Given the description of an element on the screen output the (x, y) to click on. 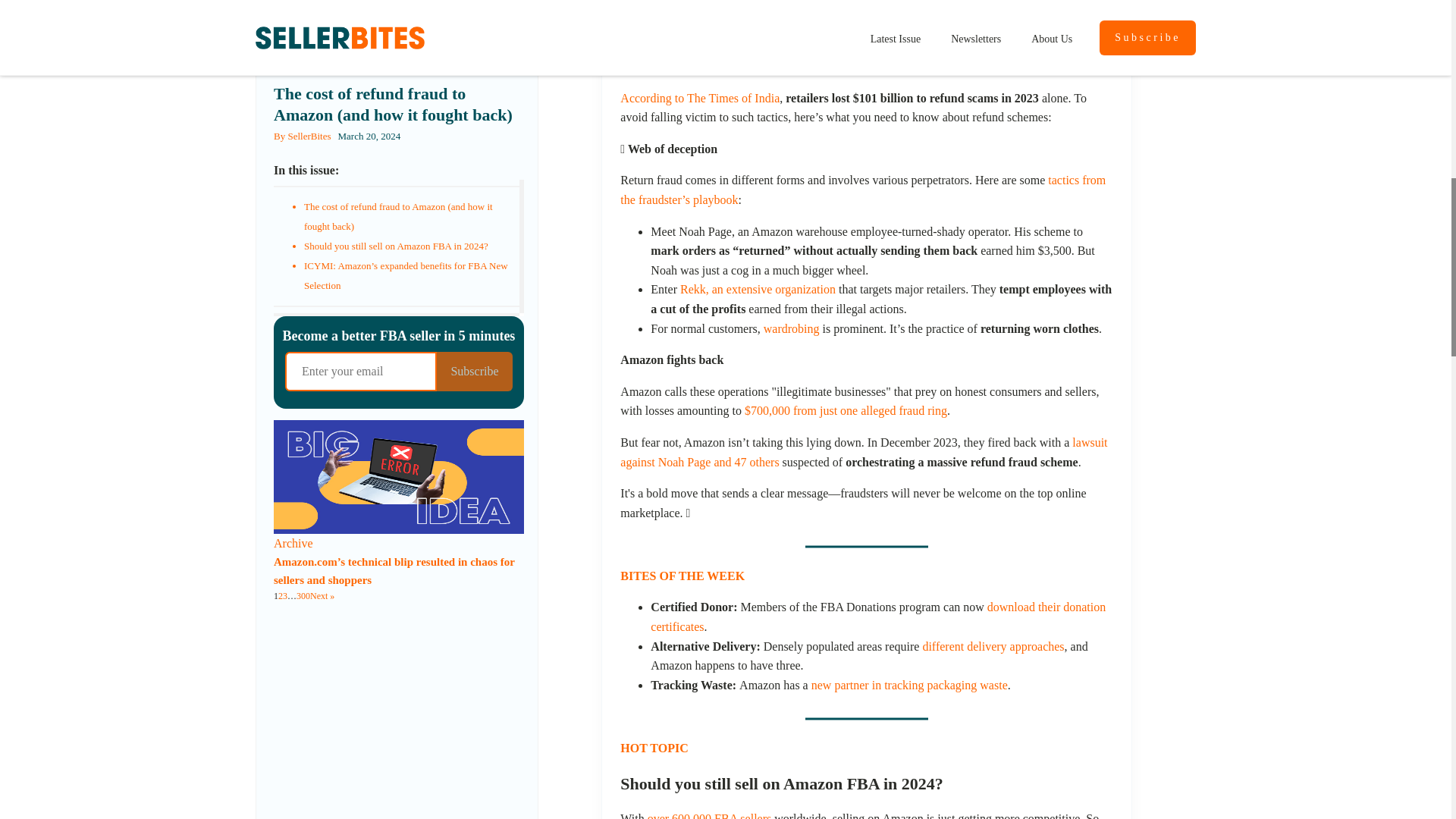
Opens in a new window (757, 288)
Opens in a new window (877, 616)
Opens in a new window (1069, 46)
download their donation certificates (877, 616)
different delivery approaches (992, 645)
Opens in a new window (992, 645)
Rekk, an extensive organization (757, 288)
lawsuit against Noah Page and 47 others (863, 451)
refund fraud (739, 46)
Opens in a new window (863, 451)
Opens in a new window (908, 684)
tutorials (1069, 46)
wardrobing (790, 328)
Opens in a new window (845, 410)
new partner in tracking packaging waste (908, 684)
